Given the description of an element on the screen output the (x, y) to click on. 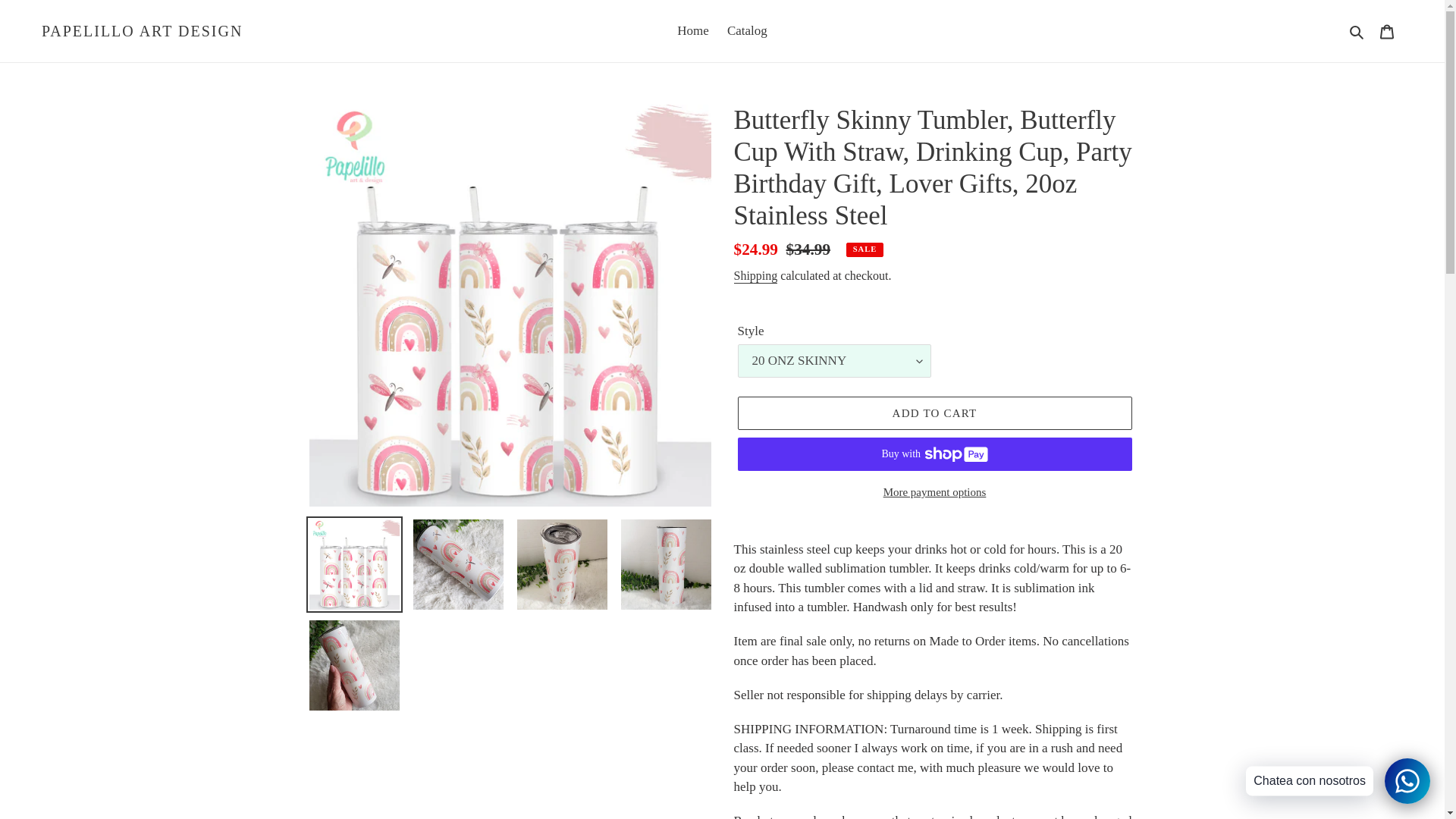
More payment options (933, 492)
Search (1357, 30)
PAPELILLO ART DESIGN (142, 31)
Shipping (755, 276)
Catalog (746, 30)
Cart (1387, 30)
ADD TO CART (933, 412)
Home (692, 30)
